Given the description of an element on the screen output the (x, y) to click on. 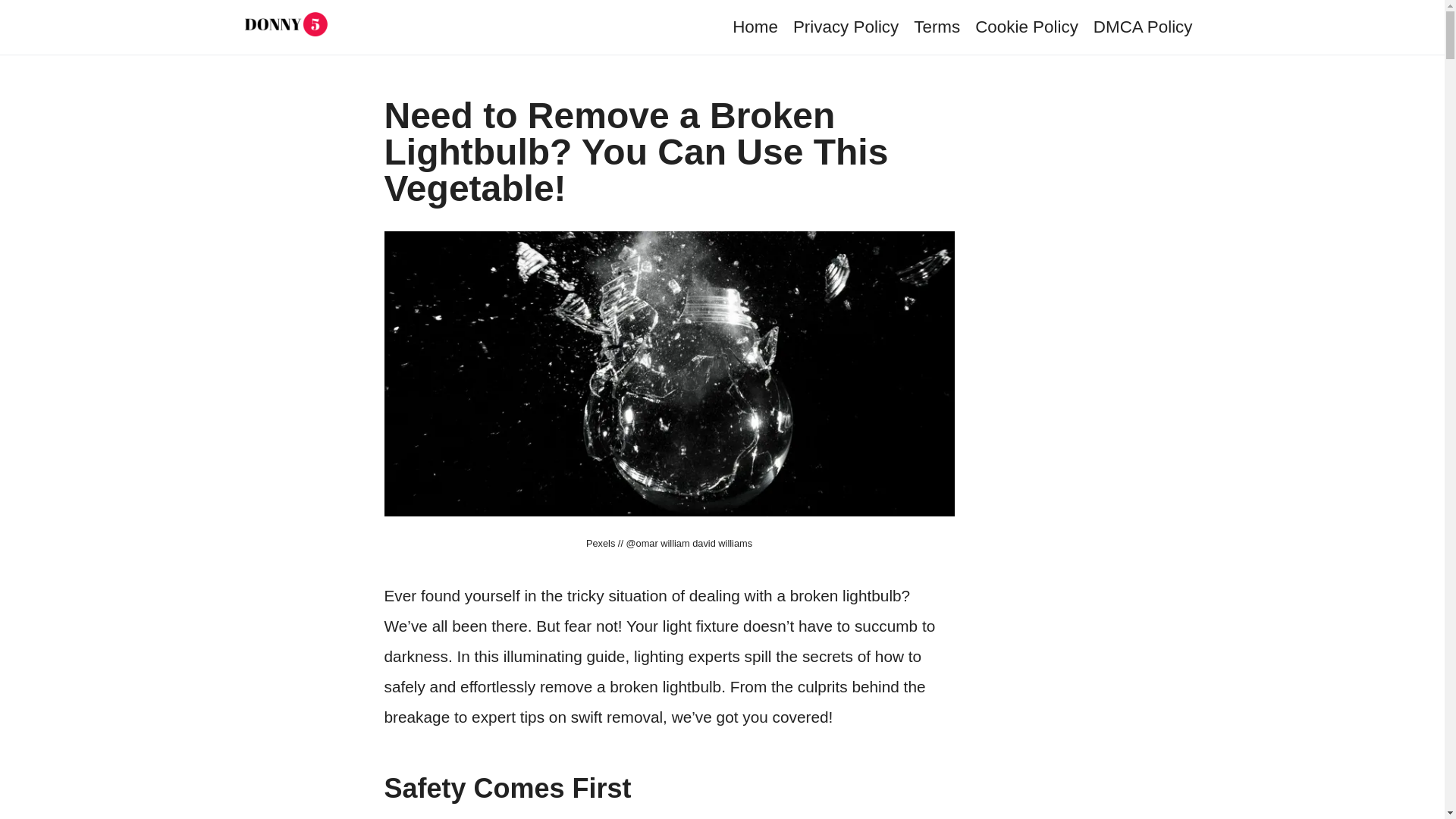
Privacy Policy (845, 26)
Home (754, 26)
DMCA Policy (1142, 26)
Cookie Policy (1026, 26)
Terms (936, 26)
